Given the description of an element on the screen output the (x, y) to click on. 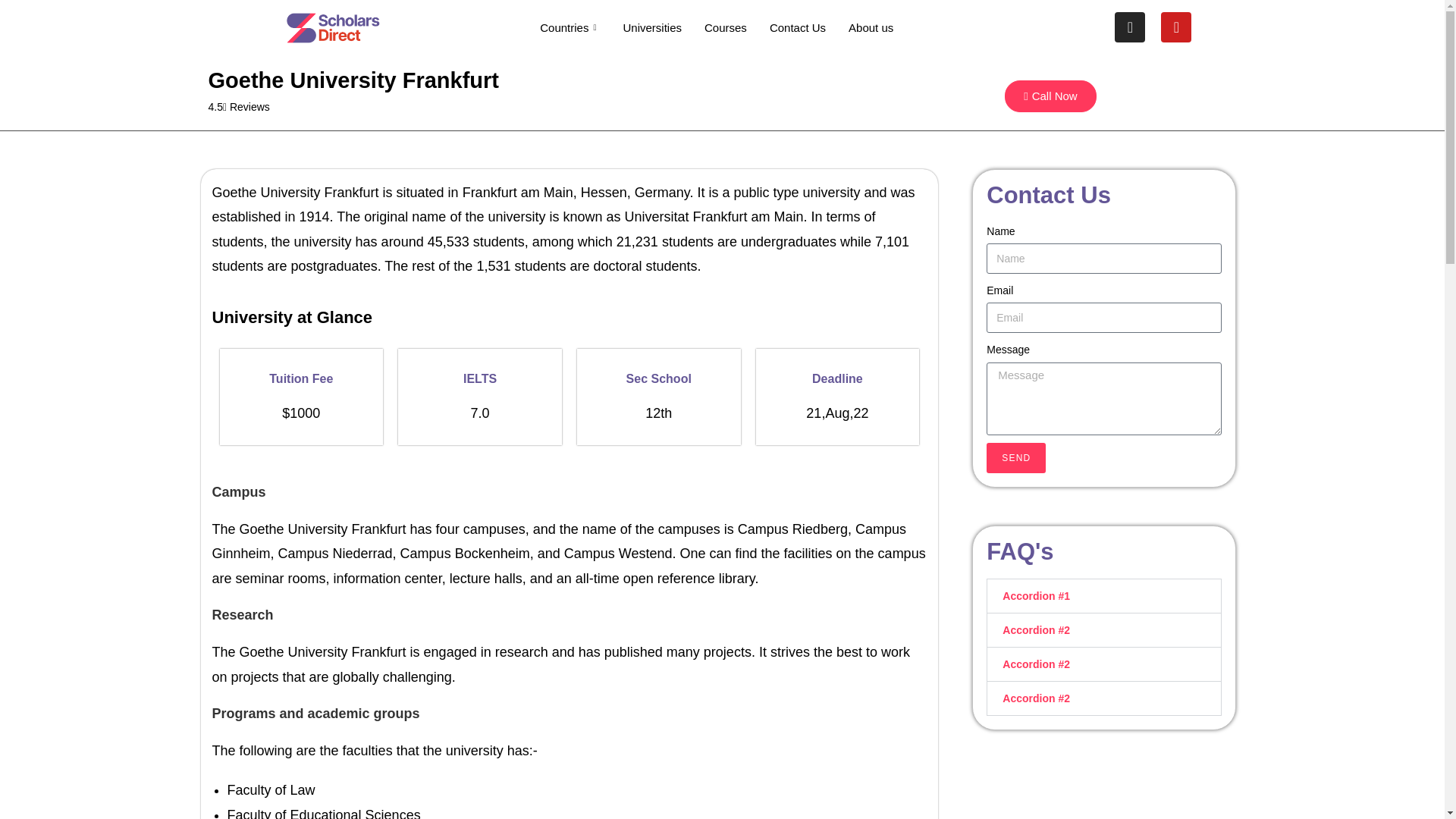
Courses (725, 26)
SEND (1016, 458)
Contact Us (797, 26)
About us (870, 26)
Countries (569, 26)
Call Now (1050, 96)
Universities (652, 26)
